Given the description of an element on the screen output the (x, y) to click on. 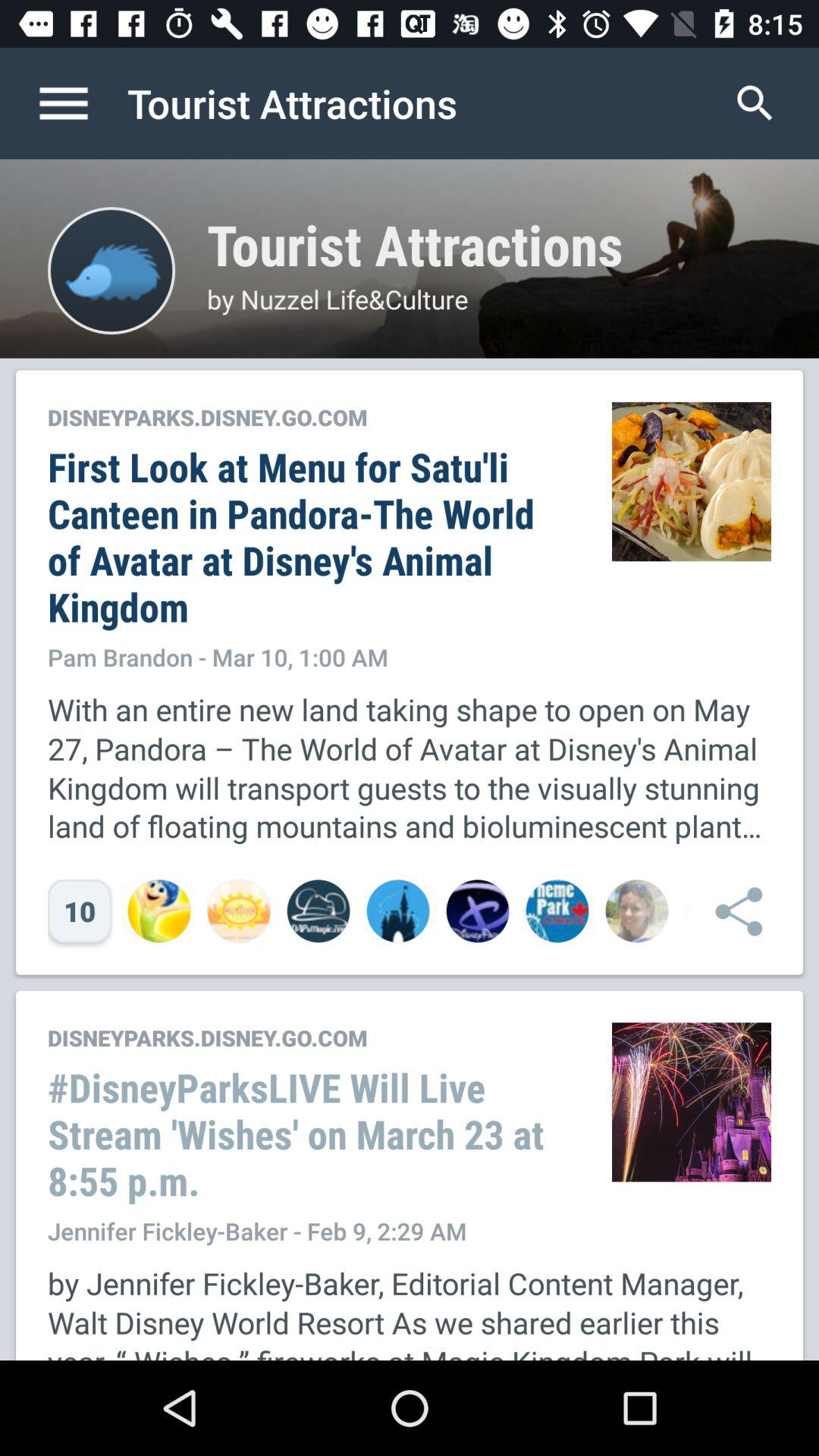
it shows main menu (79, 103)
